Given the description of an element on the screen output the (x, y) to click on. 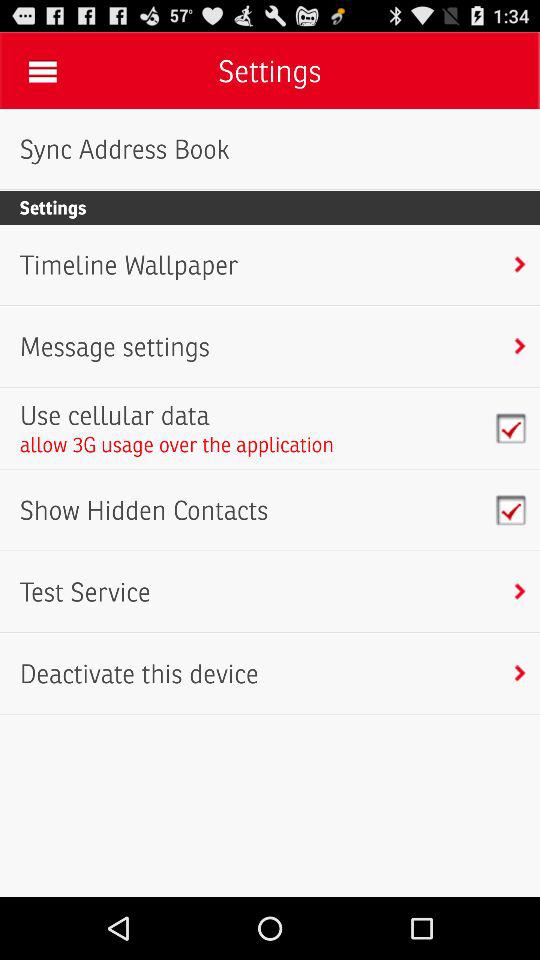
choose test service item (84, 592)
